Given the description of an element on the screen output the (x, y) to click on. 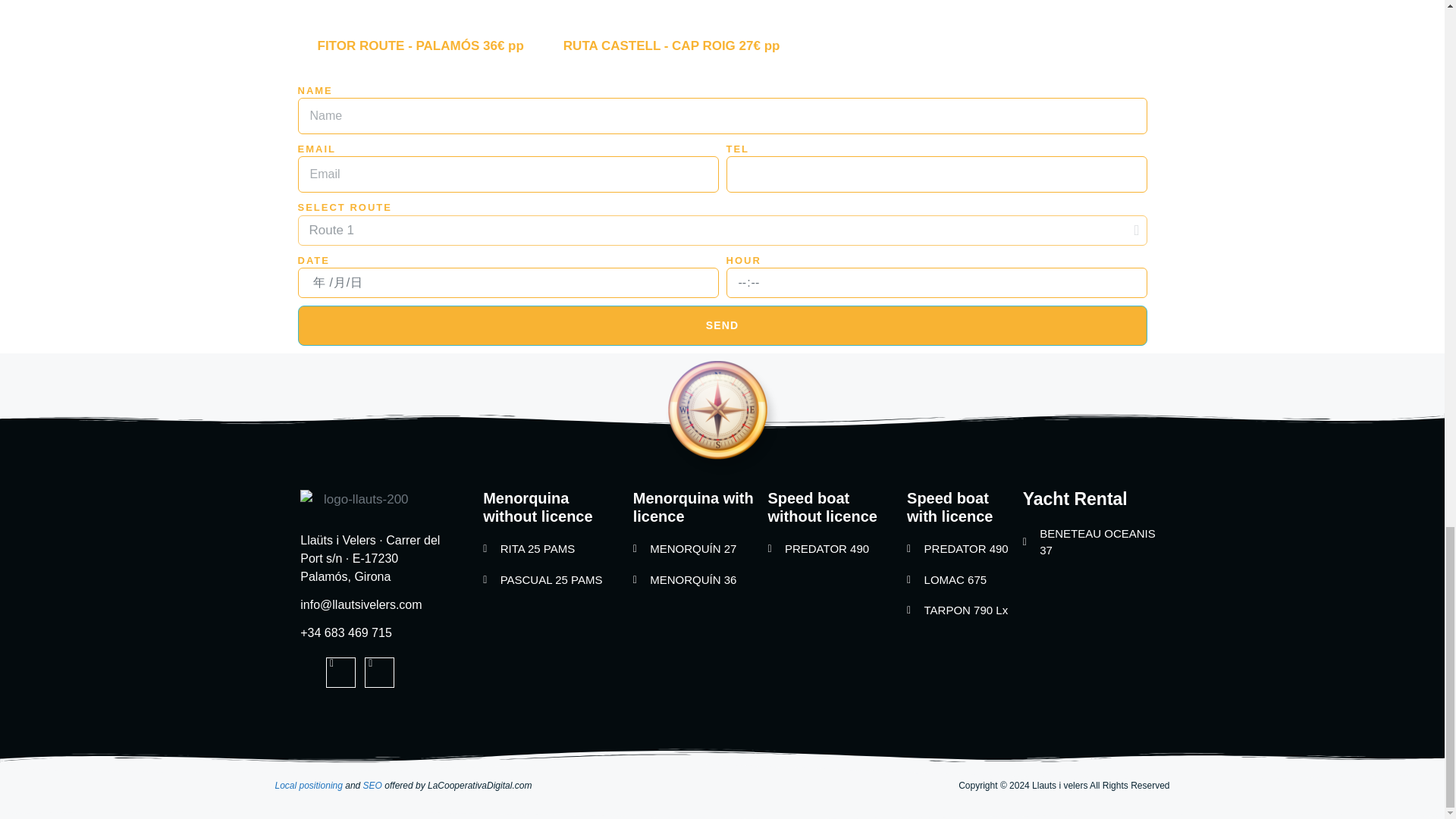
SEND (722, 325)
logo-llauts-200 (359, 499)
